Given the description of an element on the screen output the (x, y) to click on. 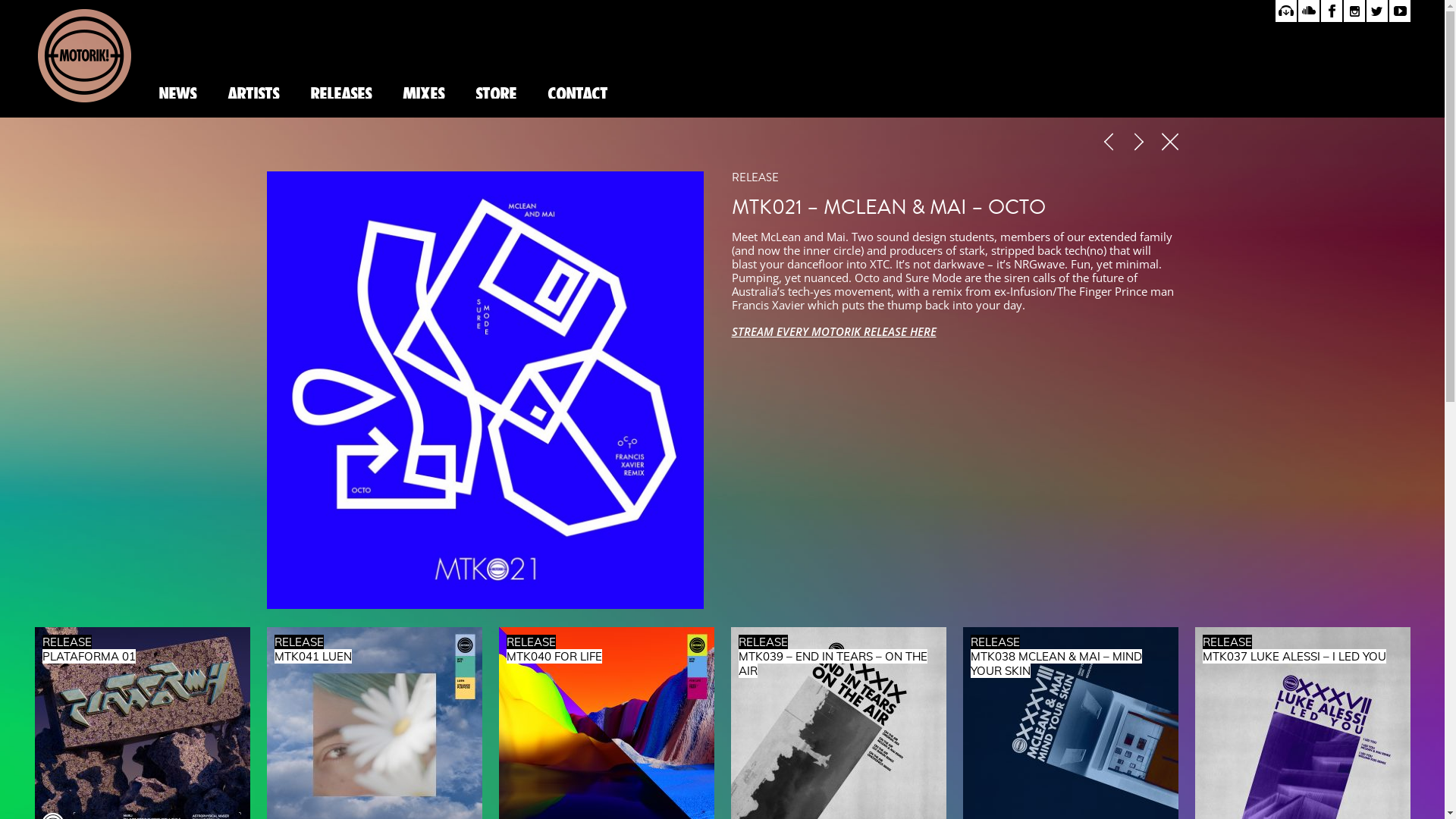
facebook Element type: text (1331, 10)
STORE Element type: text (495, 91)
next Element type: text (1140, 143)
beatport Element type: text (1285, 10)
youtube Element type: text (1399, 10)
STREAM EVERY MOTORIK RELEASE HERE Element type: text (833, 330)
RELEASES Element type: text (340, 91)
prev Element type: text (1110, 143)
soundcloud Element type: text (1308, 10)
ARTISTS Element type: text (251, 91)
close Element type: text (1169, 143)
twitter Element type: text (1376, 10)
instagram Element type: text (1354, 10)
NEWS Element type: text (176, 91)
MIXES Element type: text (422, 91)
CONTACT Element type: text (575, 91)
